Given the description of an element on the screen output the (x, y) to click on. 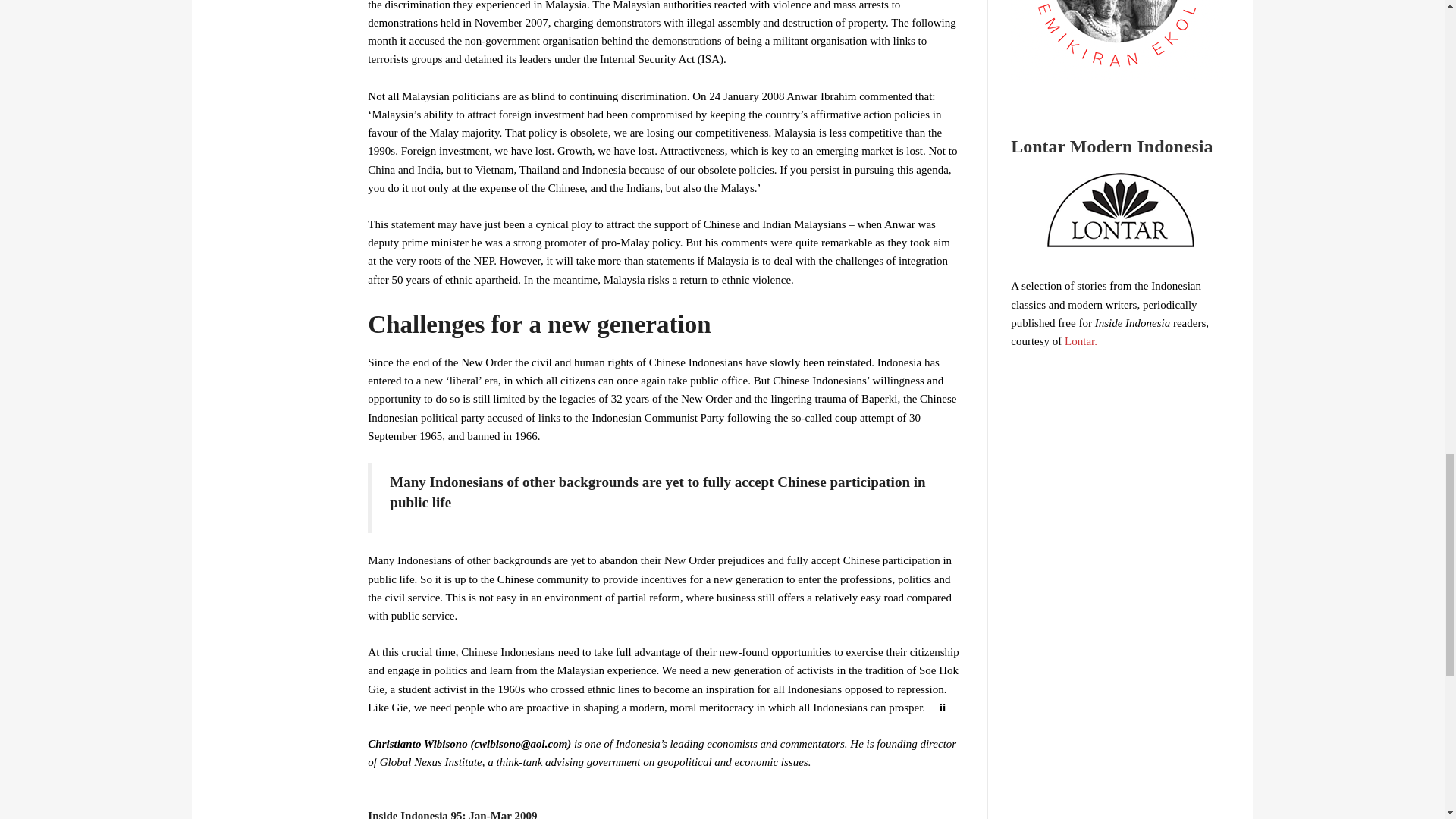
Lontar Modern Indonesia Series (1120, 209)
